Given the description of an element on the screen output the (x, y) to click on. 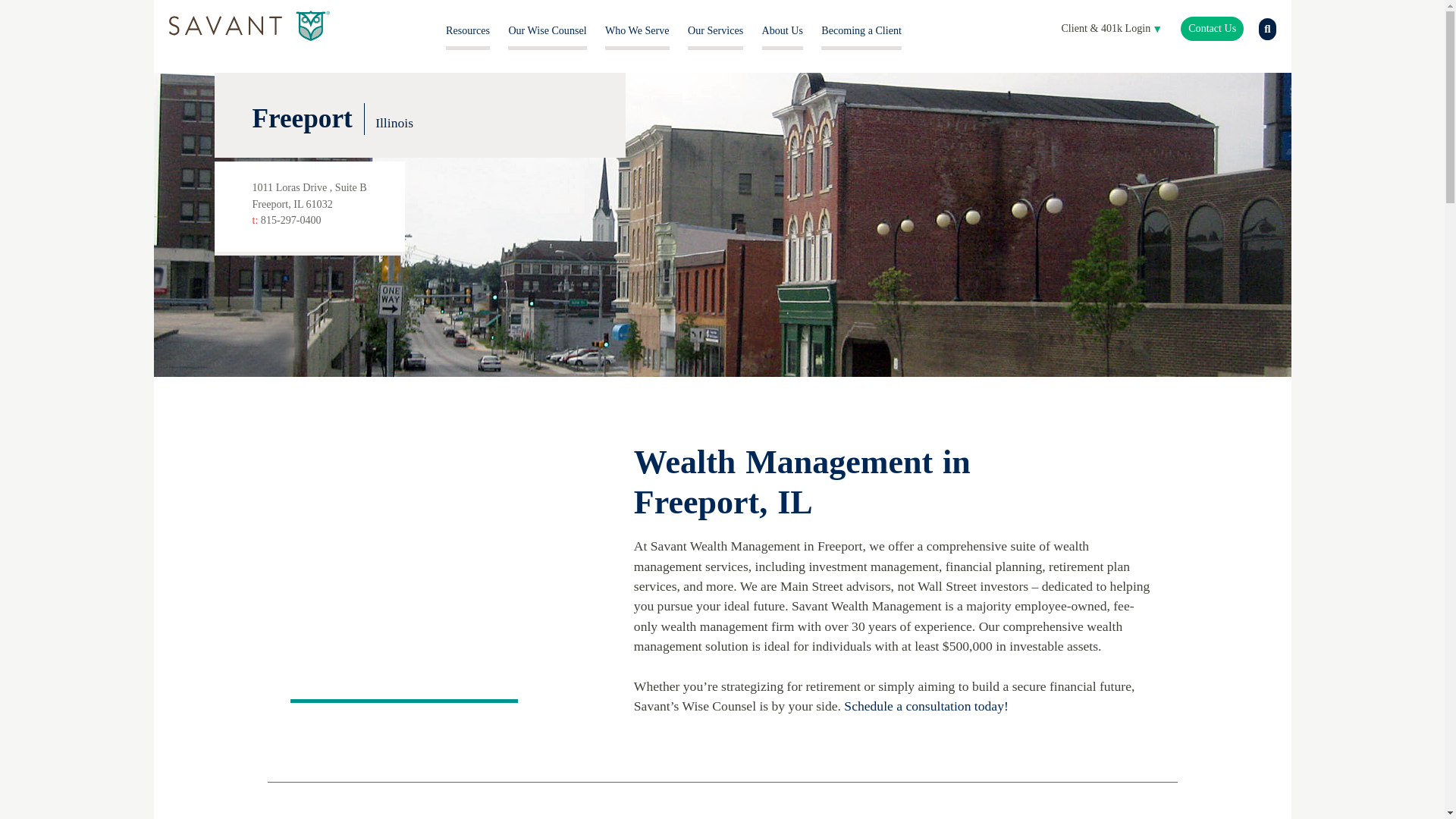
Who We Serve (637, 30)
Resources (467, 30)
Our Wise Counsel (547, 30)
About Us (782, 30)
Our Services (714, 30)
